Given the description of an element on the screen output the (x, y) to click on. 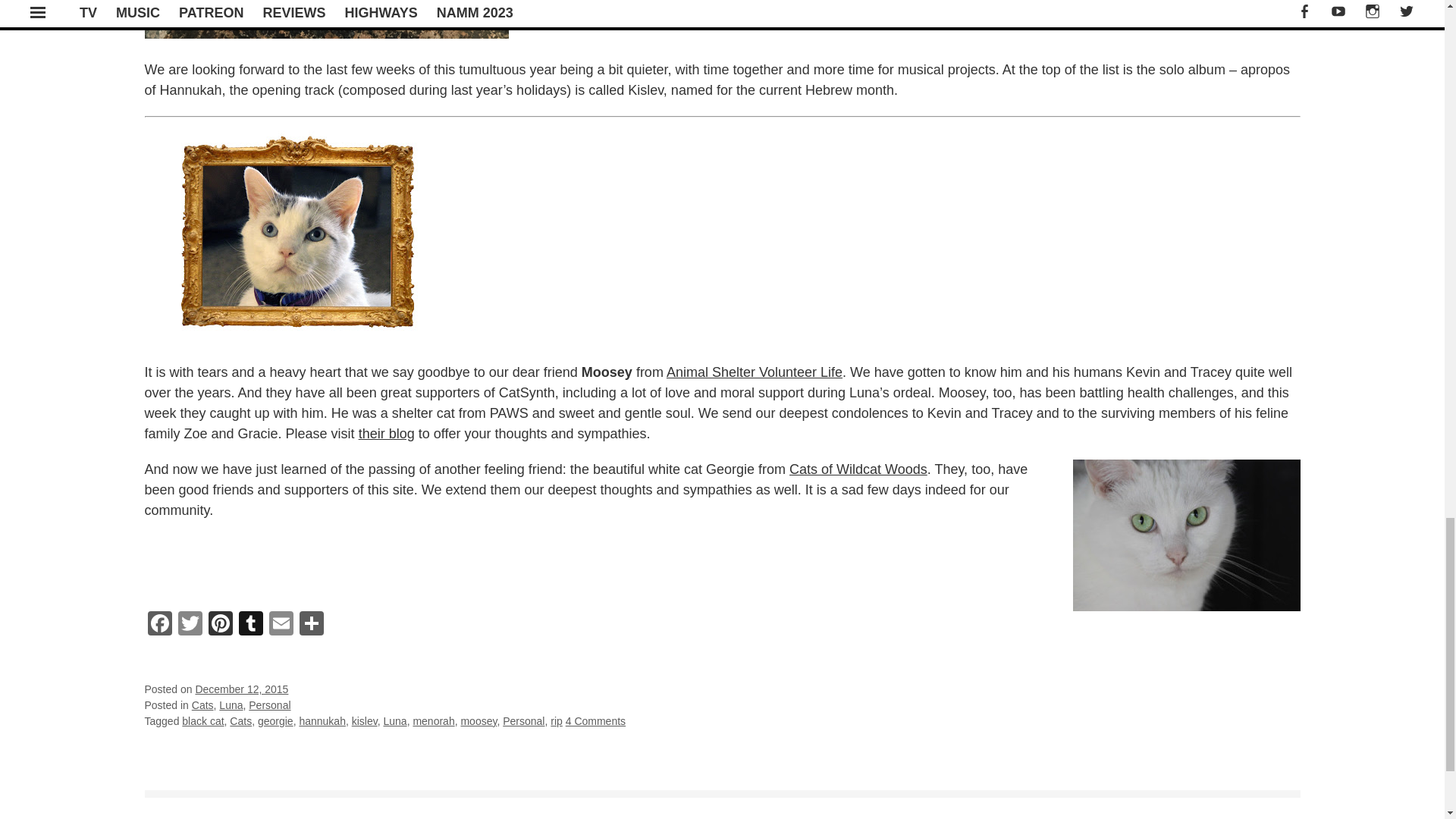
Email (279, 624)
Tumblr (249, 624)
Facebook (159, 624)
Pinterest (219, 624)
Twitter (189, 624)
